Given the description of an element on the screen output the (x, y) to click on. 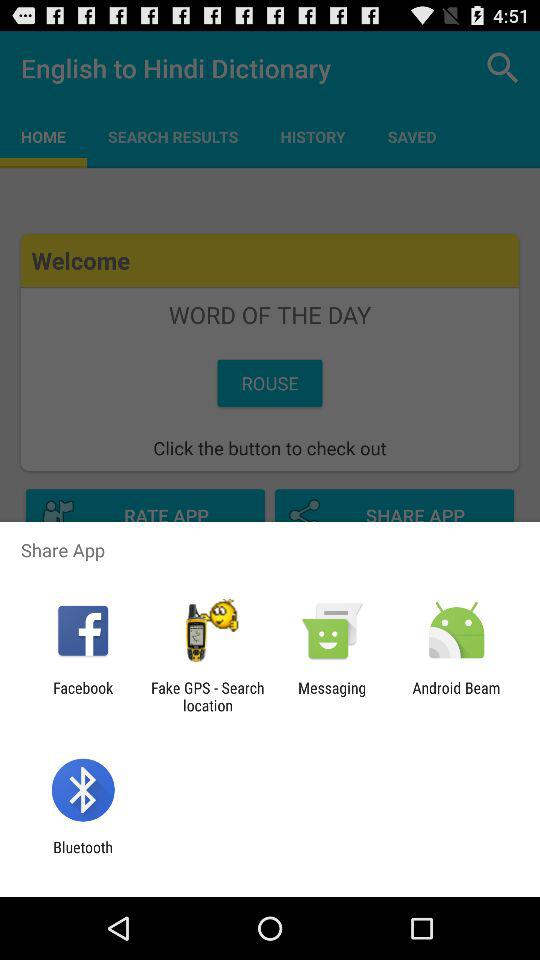
jump until android beam app (456, 696)
